Given the description of an element on the screen output the (x, y) to click on. 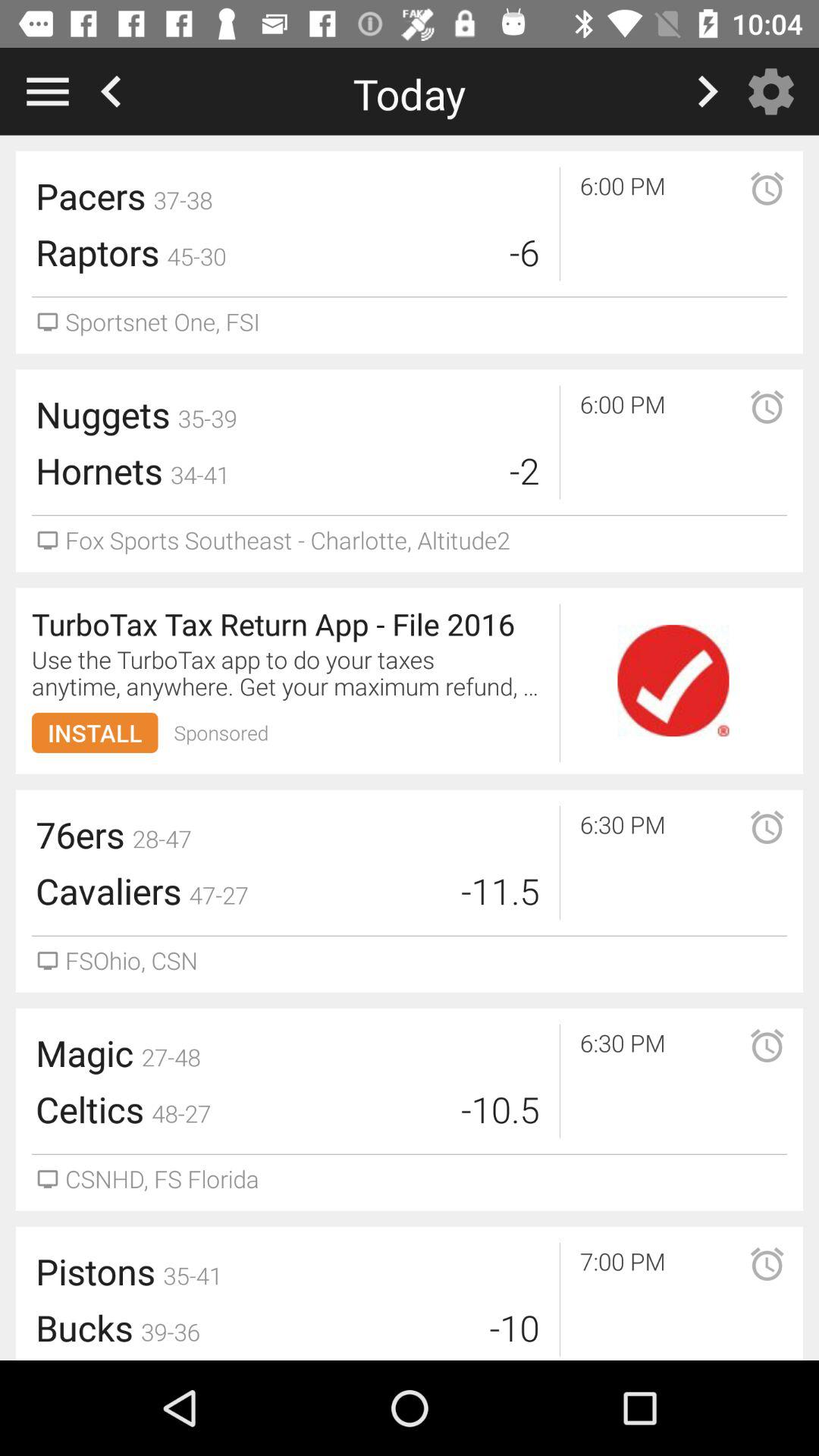
turn on the item next to the today icon (775, 91)
